Given the description of an element on the screen output the (x, y) to click on. 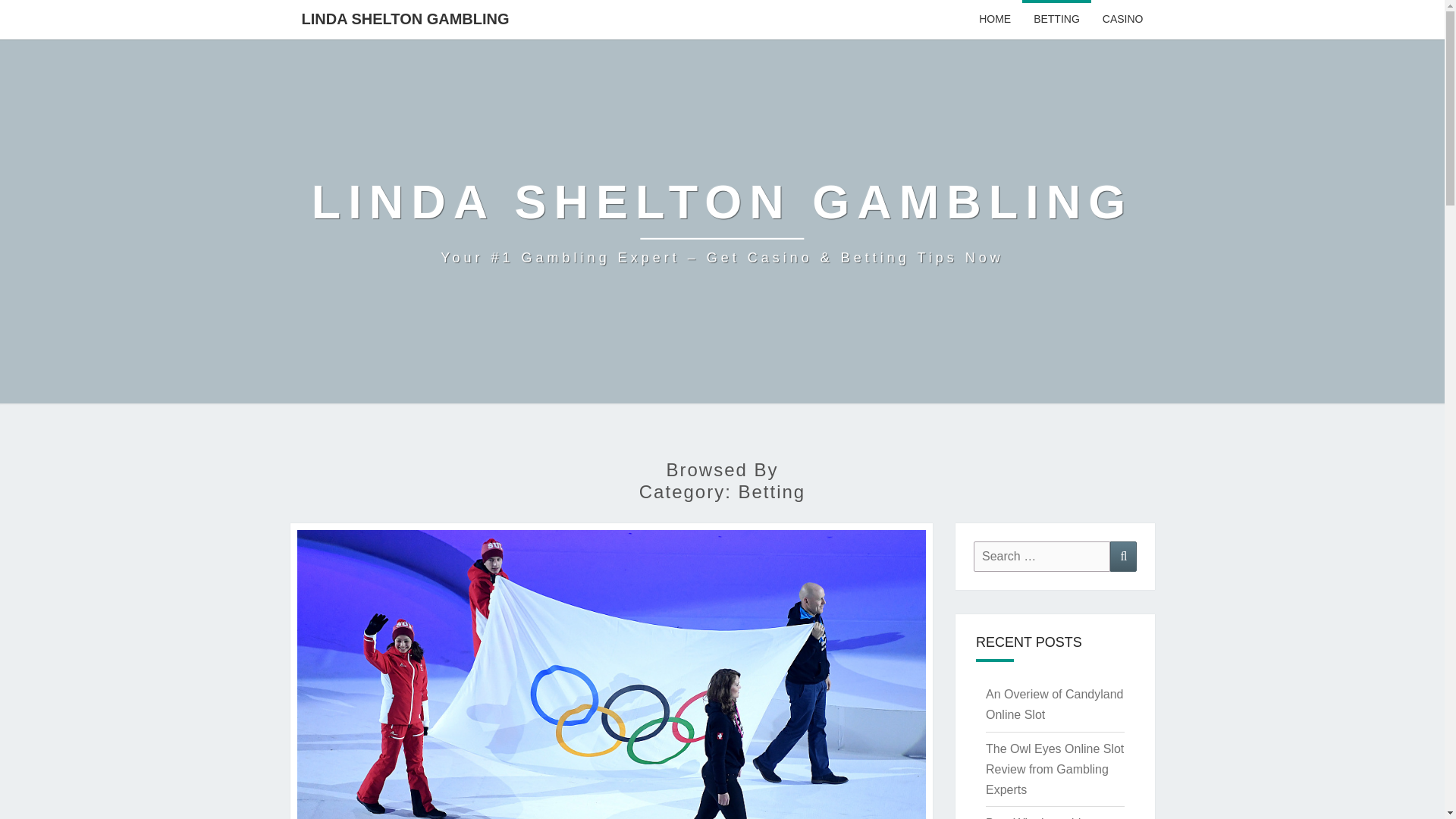
Best Winning odds at Winter Youth Olympics (1046, 817)
The Owl Eyes Online Slot Review from Gambling Experts (1054, 769)
Search (1123, 555)
An Overiew of Candyland Online Slot (1053, 704)
BETTING (1056, 19)
HOME (995, 19)
CASINO (1122, 19)
LINDA SHELTON GAMBLING (404, 18)
Search for: (1041, 555)
Linda Shelton Gambling (721, 221)
